Given the description of an element on the screen output the (x, y) to click on. 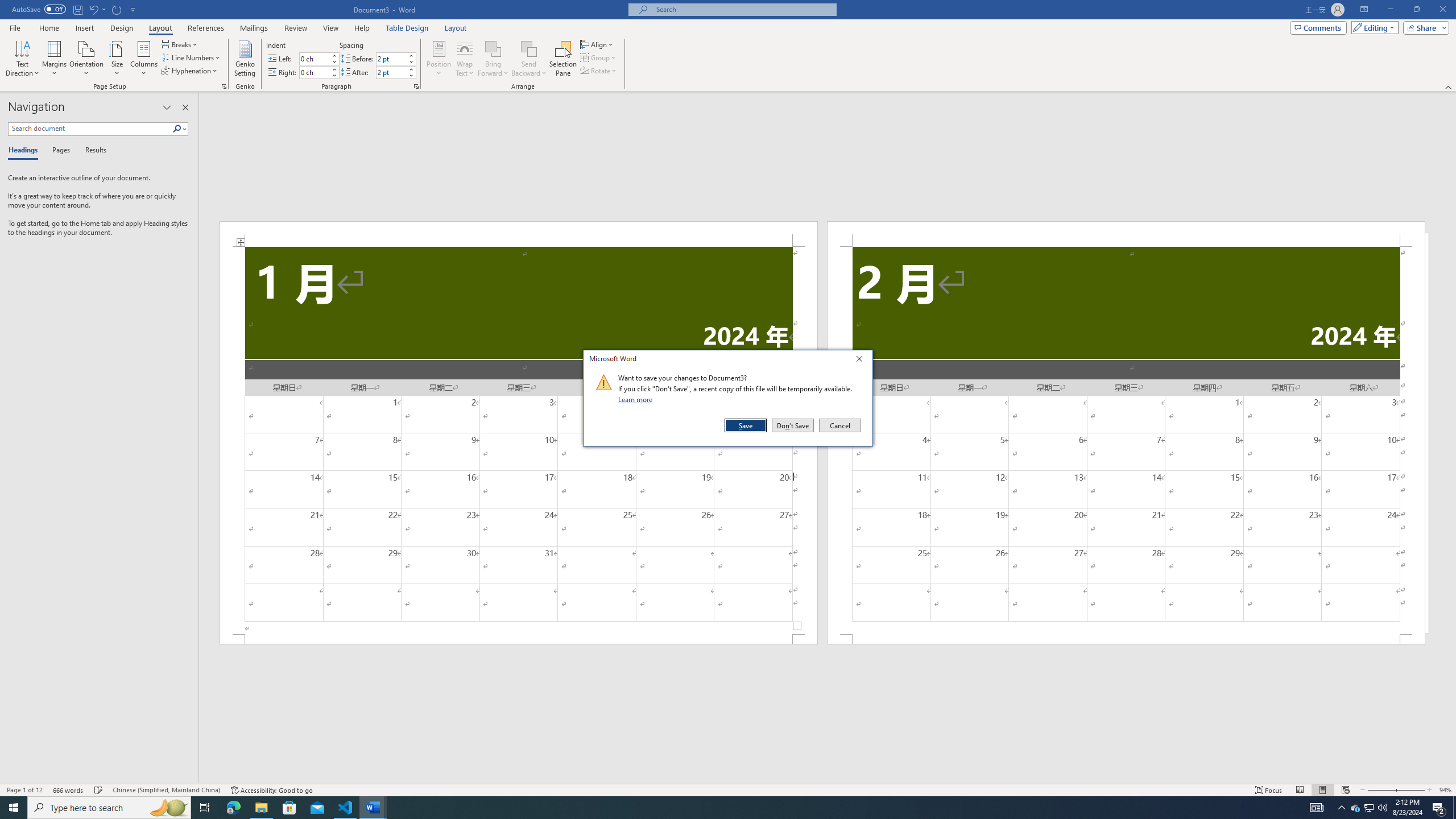
Line Numbers (191, 56)
Margins (54, 58)
Page Number Page 1 of 12 (24, 790)
Group (599, 56)
